Given the description of an element on the screen output the (x, y) to click on. 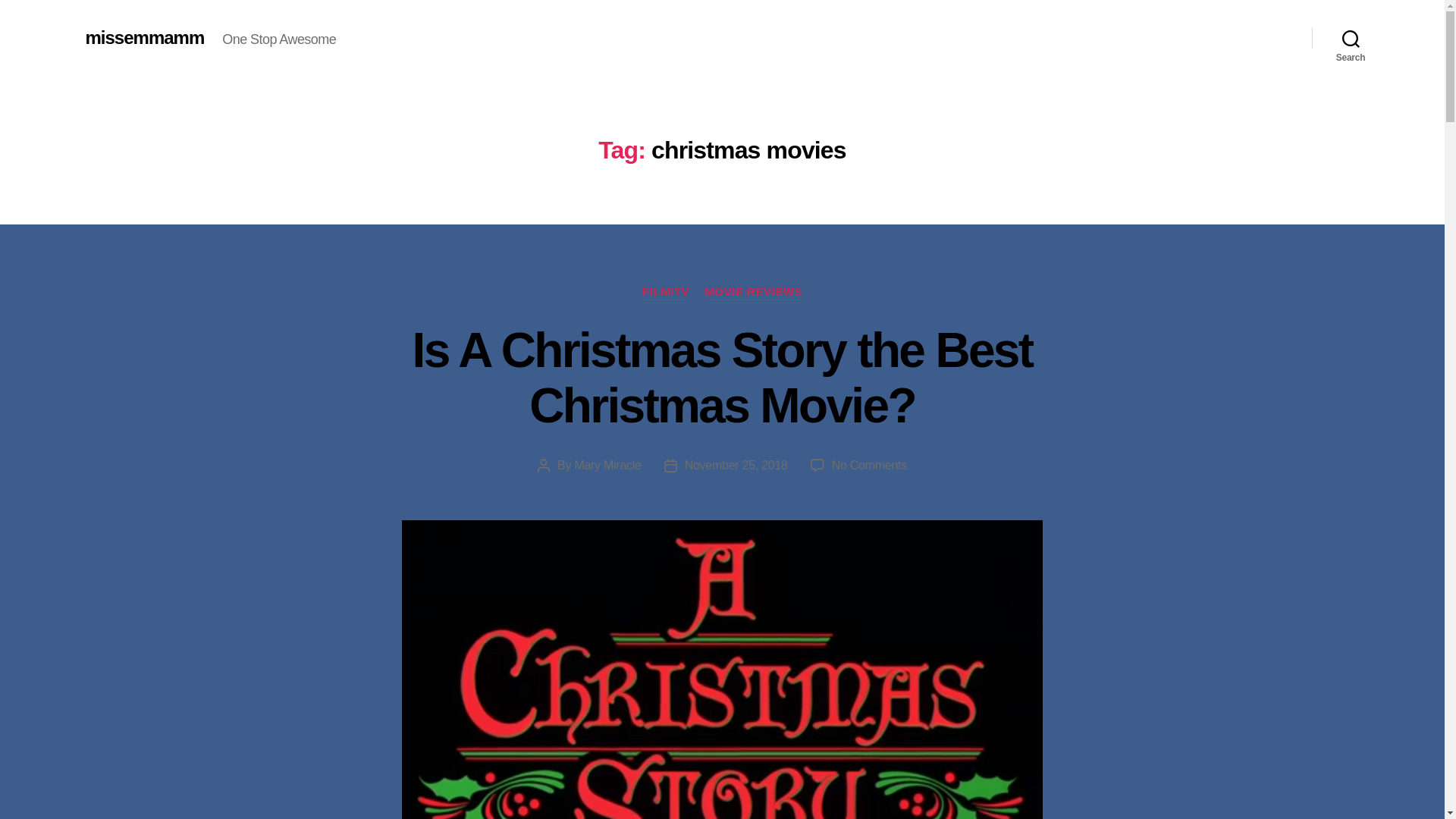
MOVIE REVIEWS (753, 292)
Search (1350, 37)
Mary Miracle (606, 464)
missemmamm (143, 37)
November 25, 2018 (735, 464)
Is A Christmas Story the Best Christmas Movie? (722, 377)
